Given the description of an element on the screen output the (x, y) to click on. 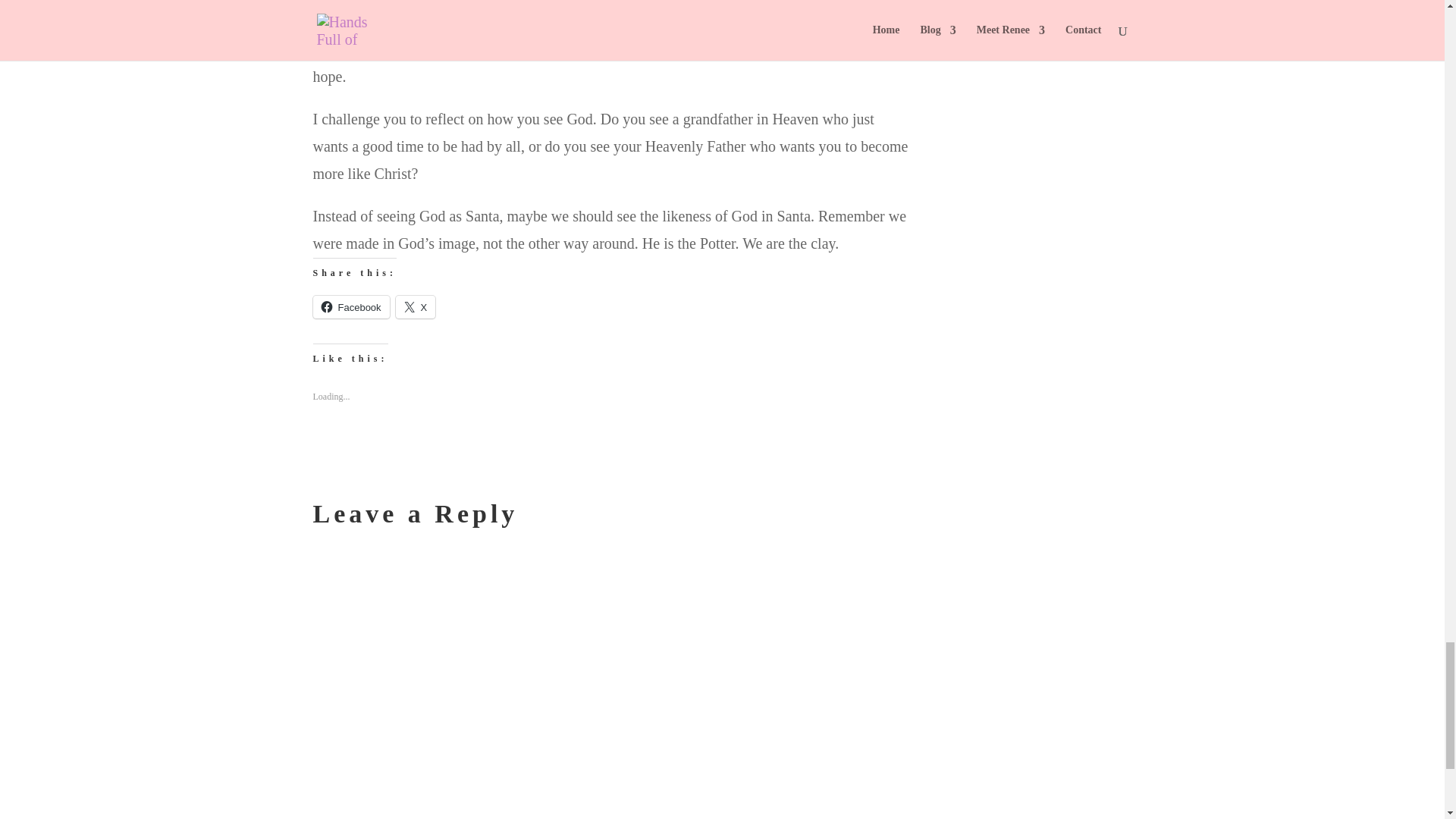
Click to share on X (415, 306)
Click to share on Facebook (350, 306)
X (415, 306)
Facebook (350, 306)
